Given the description of an element on the screen output the (x, y) to click on. 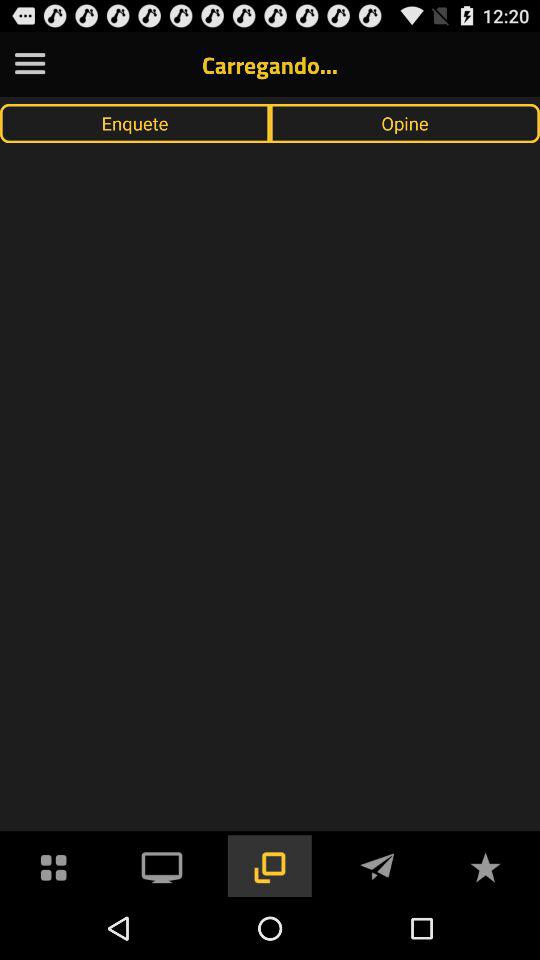
open the item at the top right corner (405, 123)
